Given the description of an element on the screen output the (x, y) to click on. 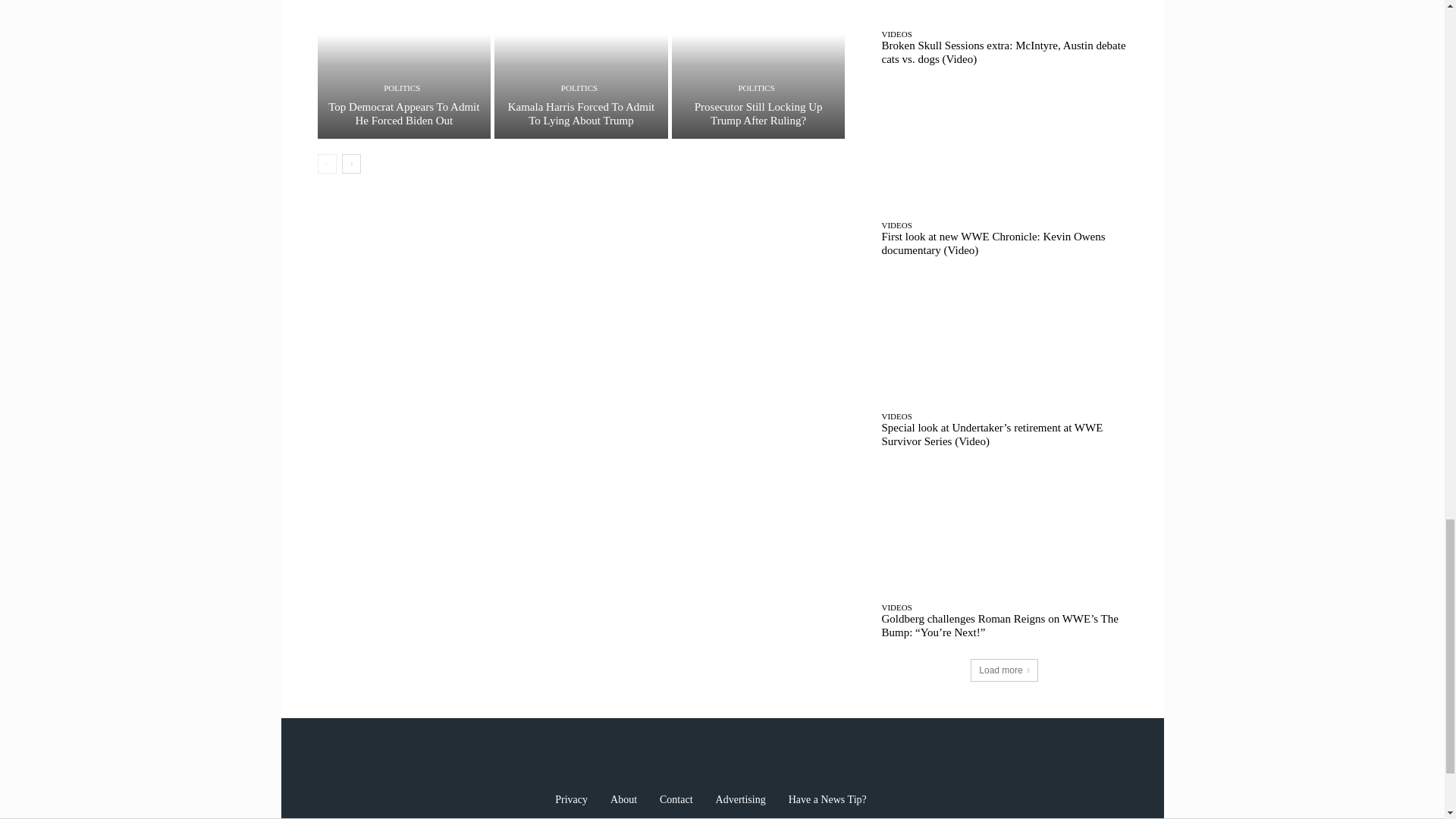
Prosecutor Still Locking Up Trump After Ruling? (758, 69)
Prosecutor Still Locking Up Trump After Ruling? (758, 113)
Top Democrat Appears To Admit He Forced Biden Out (403, 69)
Kamala Harris Forced To Admit To Lying About Trump (581, 69)
Kamala Harris Forced To Admit To Lying About Trump (581, 113)
Top Democrat Appears To Admit He Forced Biden Out (404, 113)
